Given the description of an element on the screen output the (x, y) to click on. 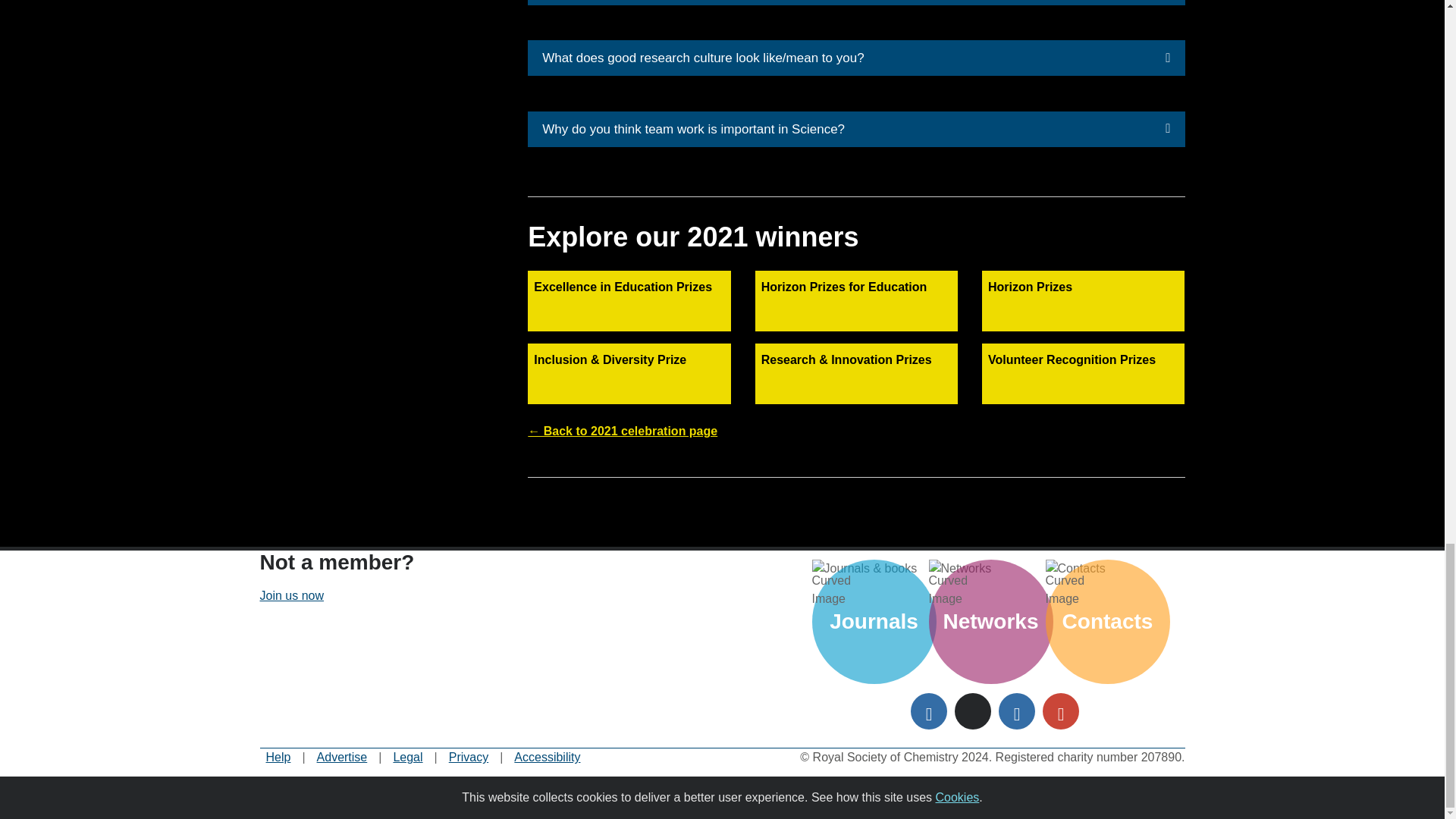
Contacts (1107, 568)
Networks (990, 568)
Accessibility statement (546, 757)
Frequently asked questions (276, 757)
